Given the description of an element on the screen output the (x, y) to click on. 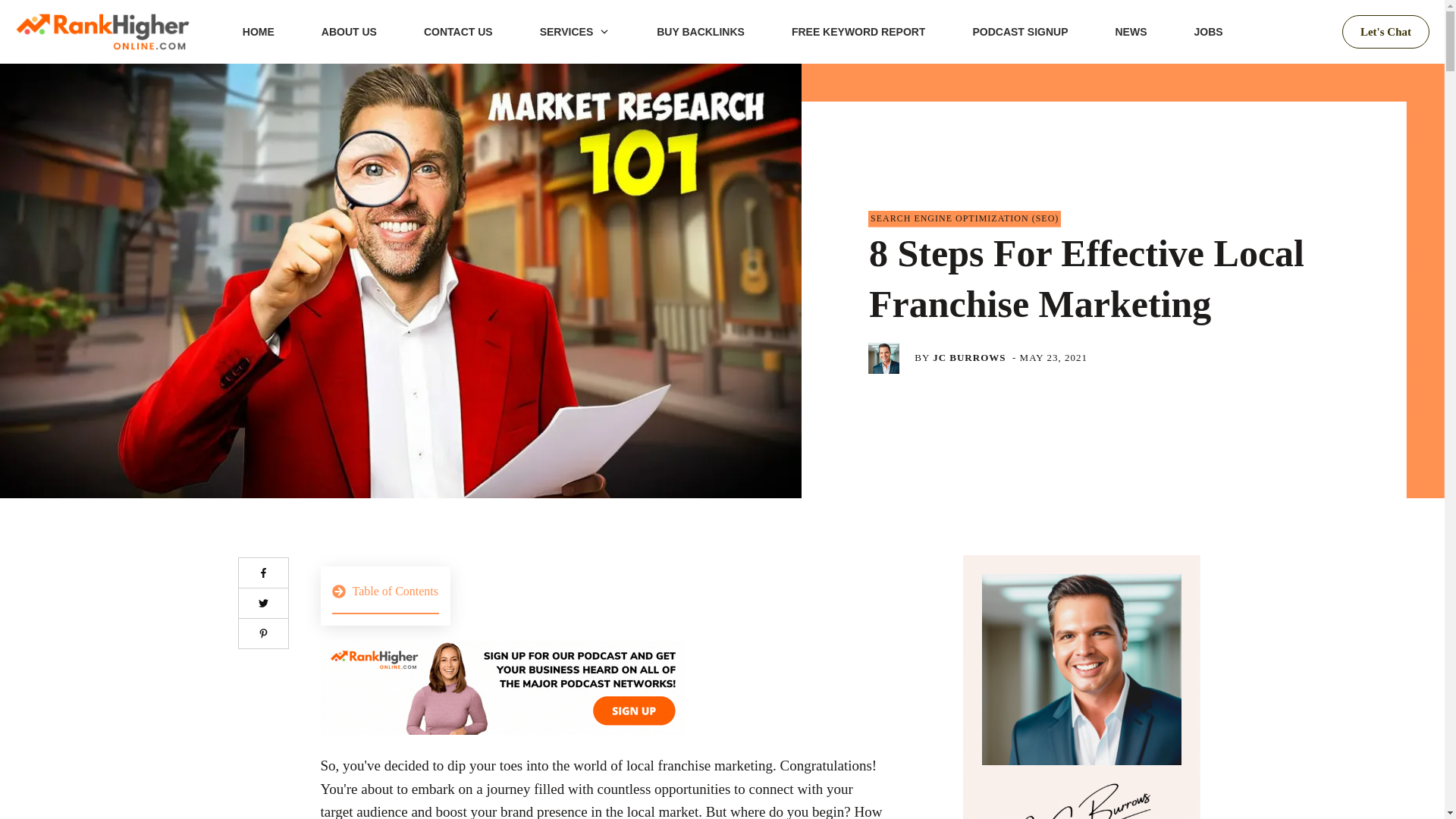
JC Burrows (1081, 799)
Let'S Chat (1385, 31)
ABOUT US (349, 31)
PODCAST SIGNUP (1019, 31)
Table of Contents (384, 595)
JC BURROWS (969, 357)
JOBS (1208, 31)
FREE KEYWORD REPORT (859, 31)
BUY BACKLINKS (700, 31)
SERVICES (575, 31)
HOME (259, 31)
NEWS (1131, 31)
CONTACT US (458, 31)
